Given the description of an element on the screen output the (x, y) to click on. 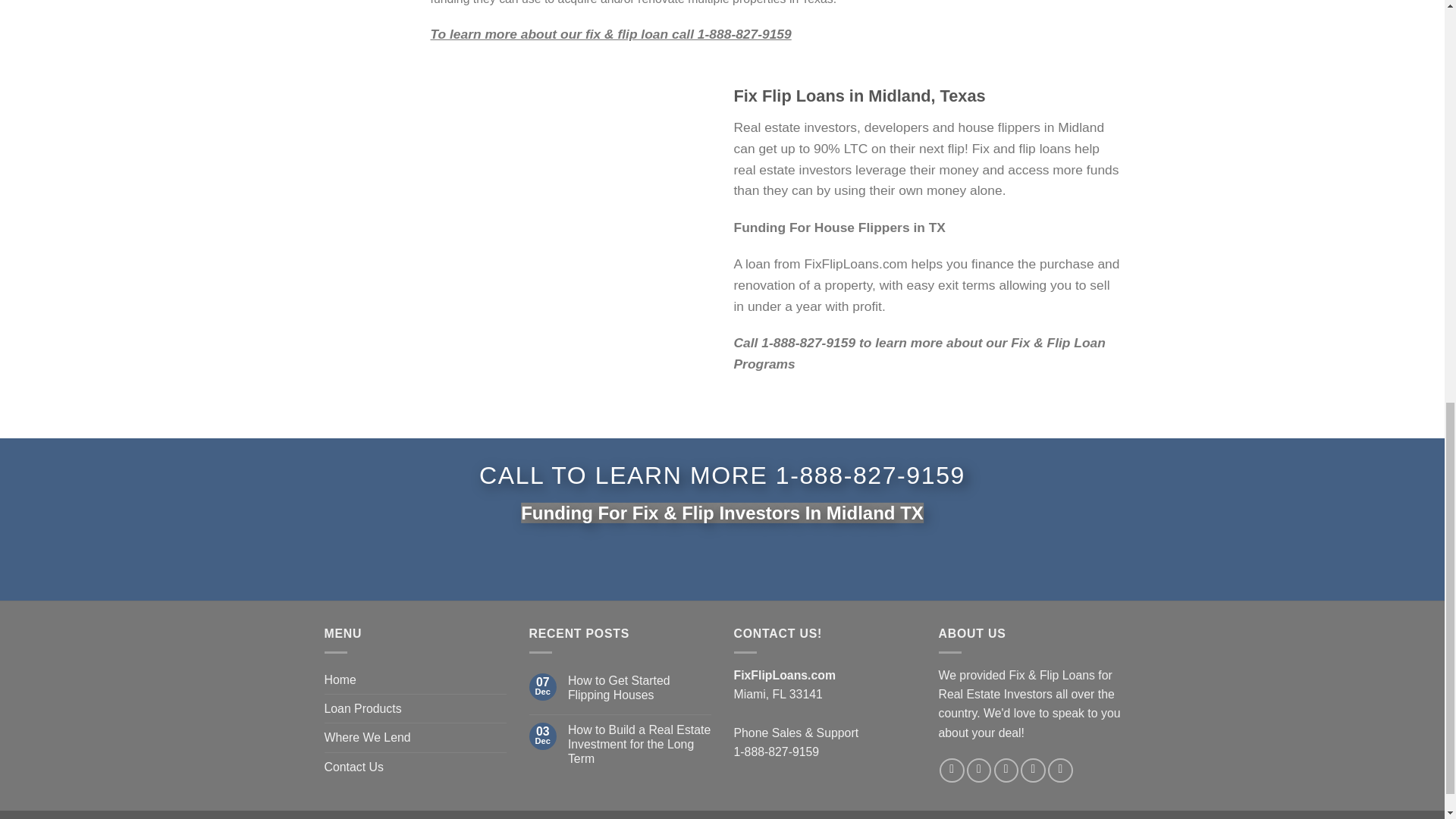
Follow on Twitter (978, 770)
How to Build a Real Estate Investment for the Long Term (639, 743)
How to Get Started Flipping Houses (639, 687)
Follow on Facebook (951, 770)
Follow on YouTube (1060, 770)
Call us (1006, 770)
Subscribe to RSS (1032, 770)
Where We Lend (367, 737)
Contact Us (354, 766)
How to Build a Real Estate Investment for the Long Term (639, 743)
